Given the description of an element on the screen output the (x, y) to click on. 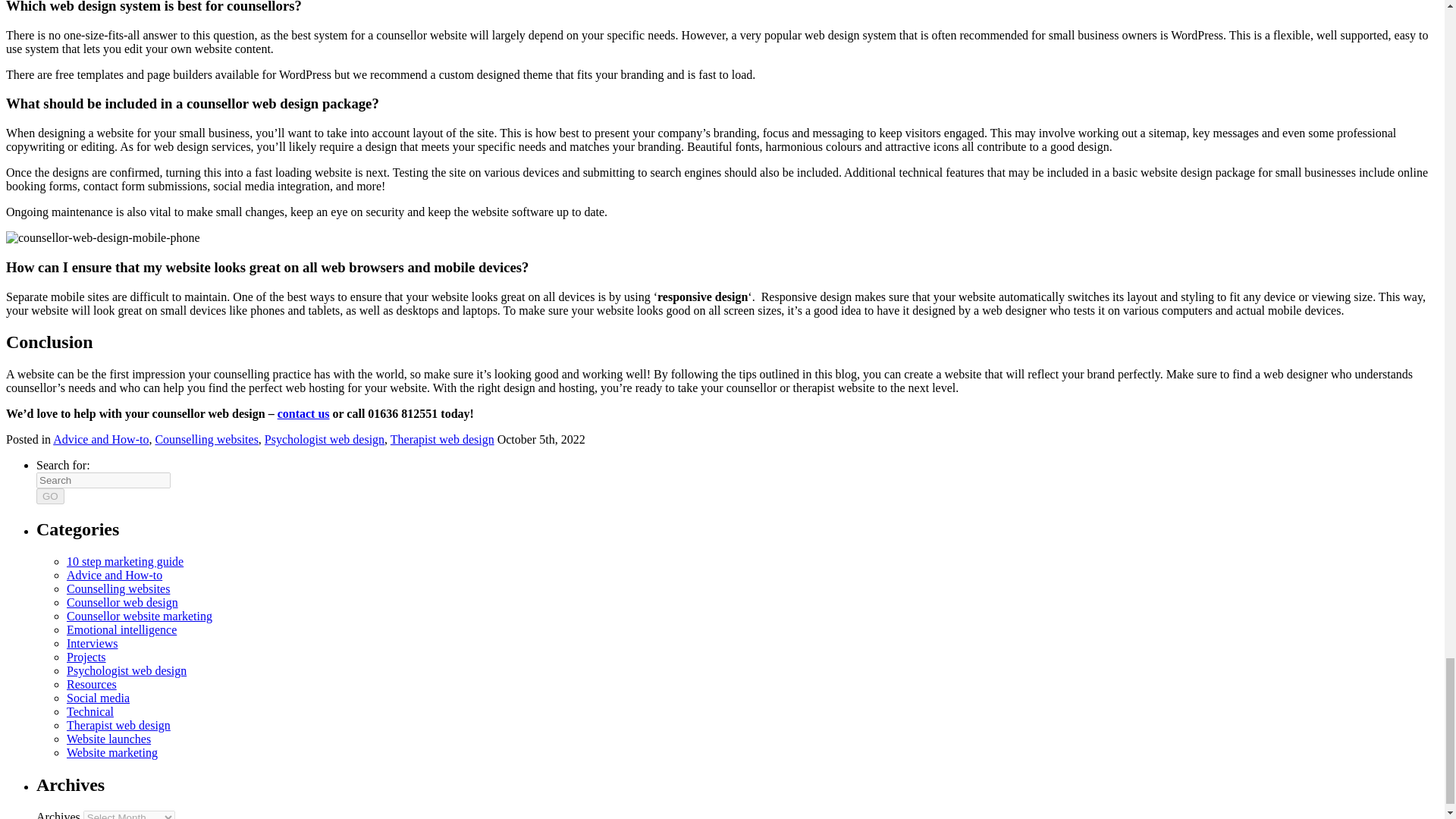
Social media (97, 697)
Advice and How-to (113, 574)
10 step marketing guide (124, 561)
Psychologist web design (126, 670)
Counselling websites (205, 439)
Therapist web design (118, 725)
Counsellor website marketing (139, 615)
Counsellor web design (121, 602)
Emotional intelligence (121, 629)
contact us (304, 413)
